Given the description of an element on the screen output the (x, y) to click on. 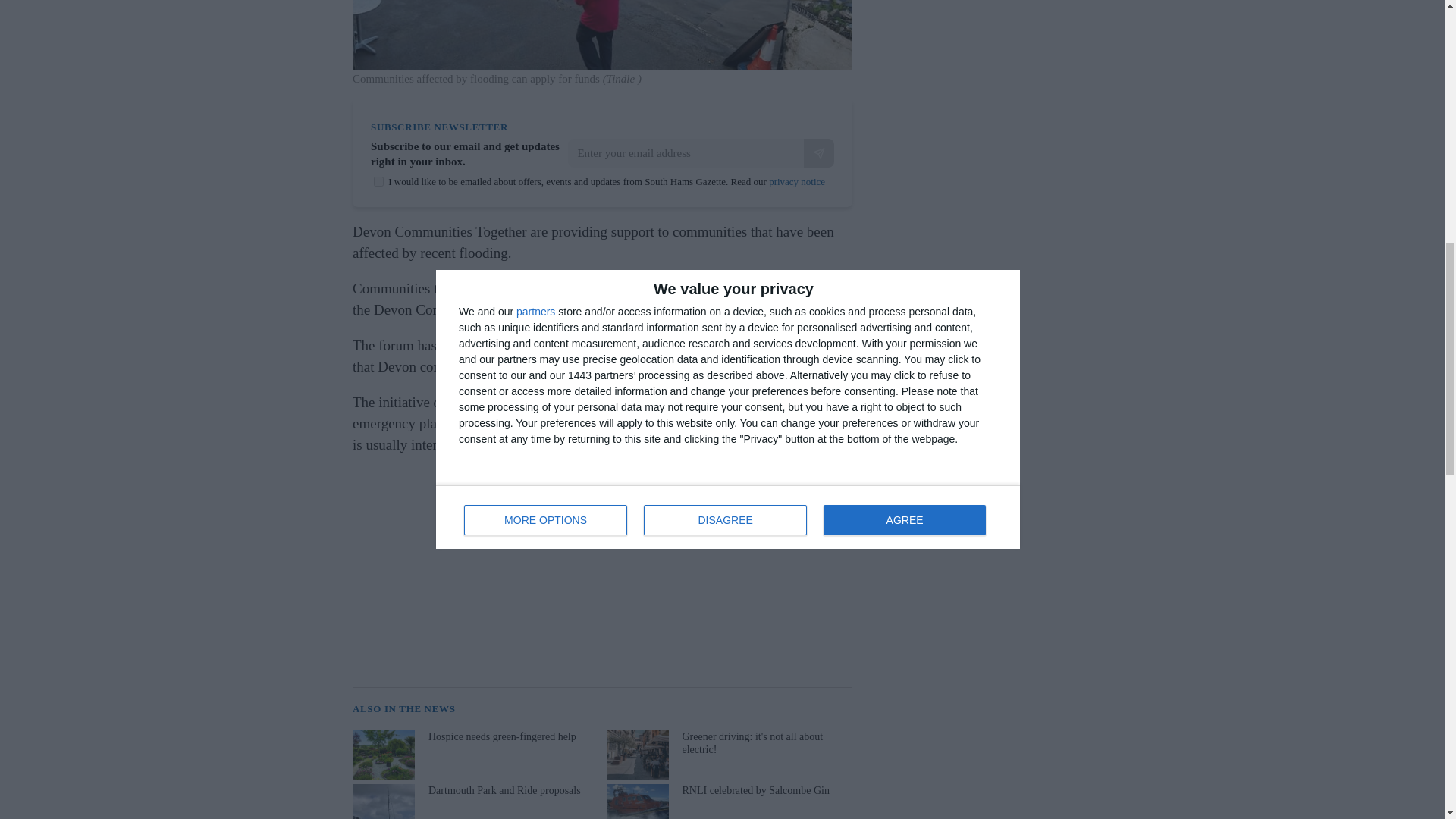
Hospice needs green-fingered help (473, 754)
privacy notice (796, 181)
Dartmouth Park and Ride proposals (473, 801)
Greener driving: it's not all about electric! (727, 754)
RNLI celebrated by Salcombe Gin (727, 801)
Emergency Resilience Grant scheme (619, 344)
